Given the description of an element on the screen output the (x, y) to click on. 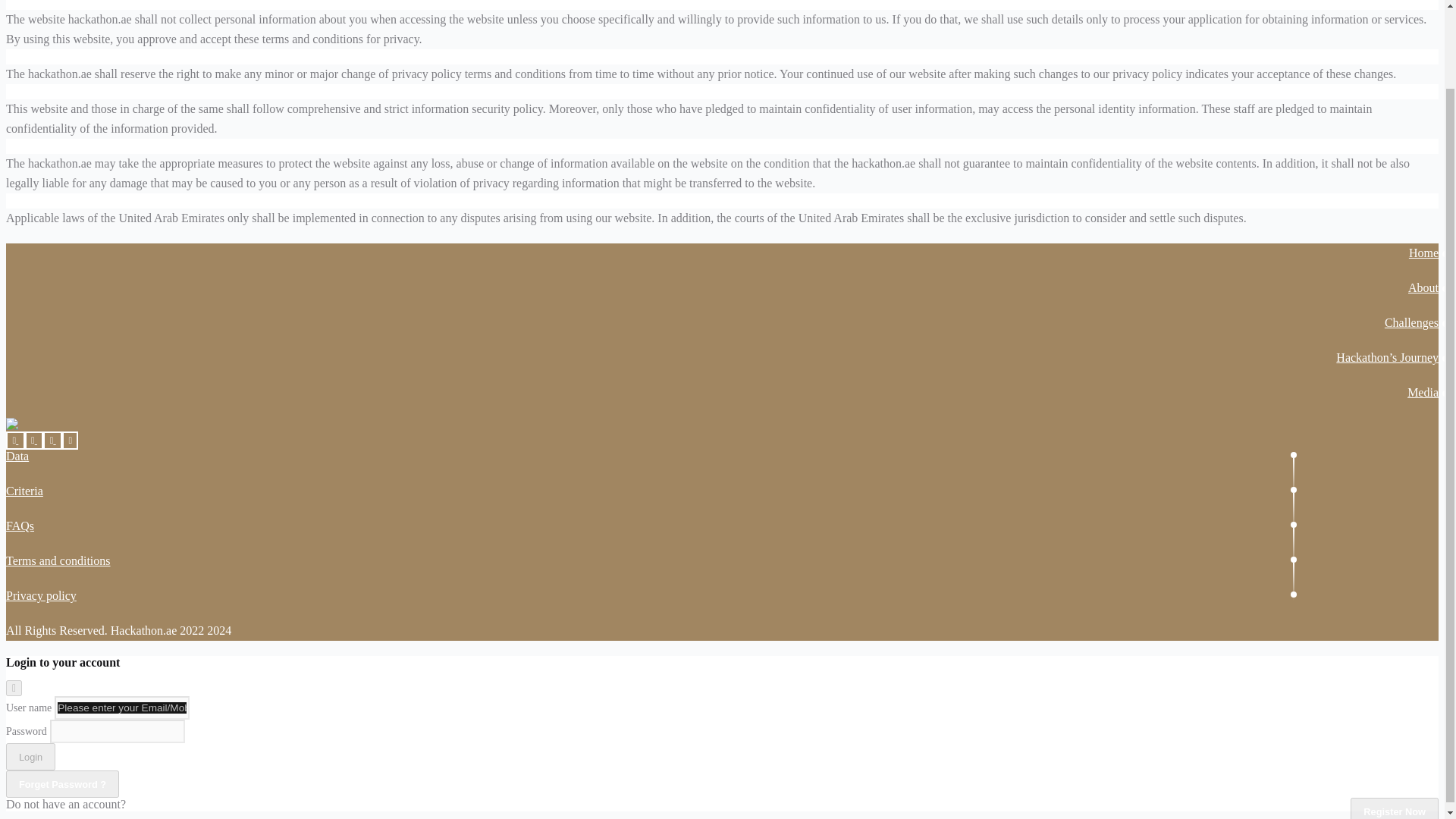
Forget Password ? (62, 783)
Login (30, 756)
